Given the description of an element on the screen output the (x, y) to click on. 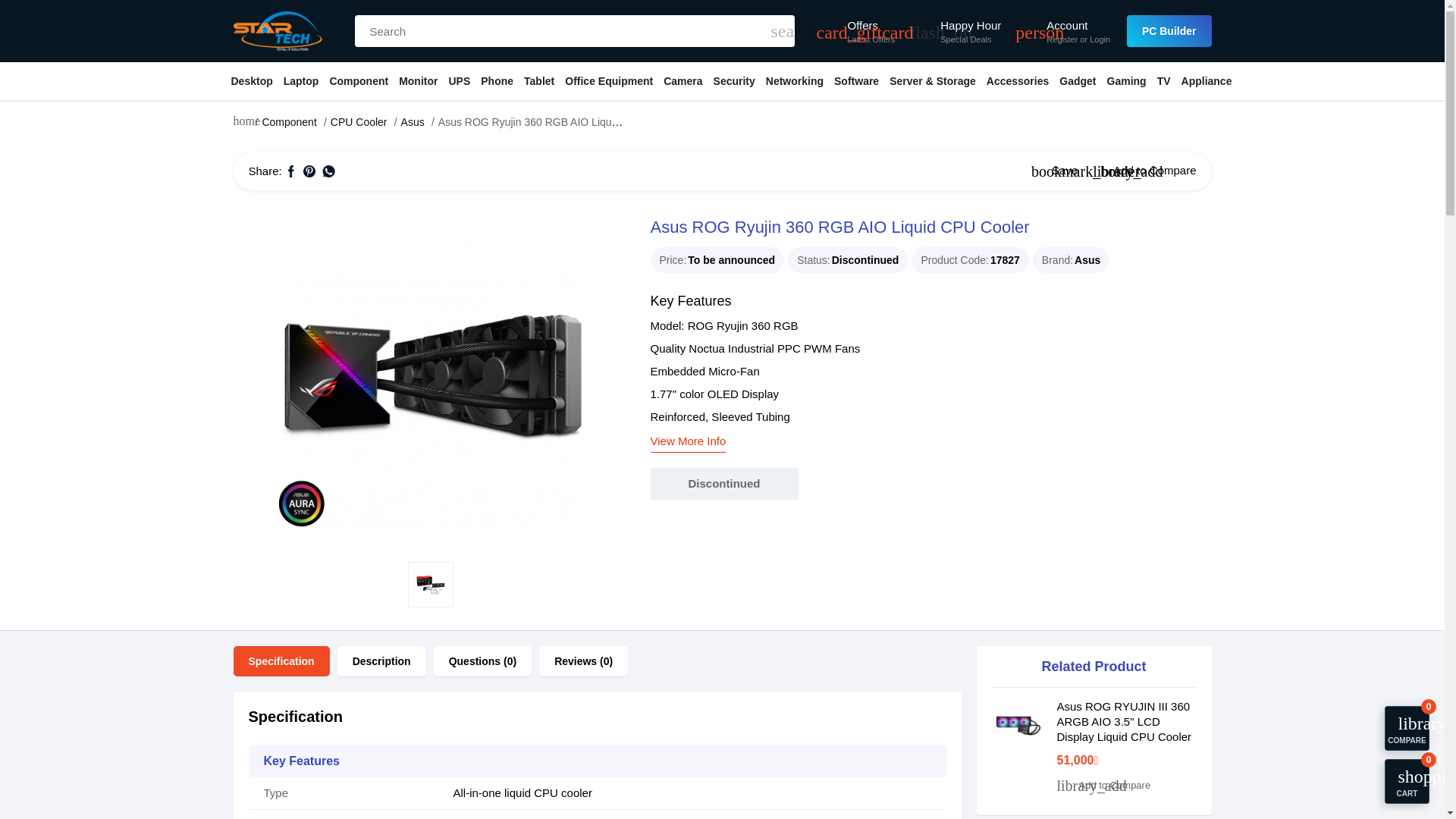
Register (1061, 39)
Star Tech Ltd  (276, 30)
PC Builder (1168, 30)
Asus ROG Ryujin 360 RGB AIO Liquid CPU Cooler (430, 584)
person (1026, 30)
Login (1099, 39)
Home (241, 124)
search (779, 31)
Desktop (251, 80)
Asus ROG Ryujin 360 RGB AIO Liquid CPU Cooler (430, 375)
Asus ROG Ryujin 360 RGB AIO Liquid CPU Cooler (429, 375)
Account (1077, 25)
